Given the description of an element on the screen output the (x, y) to click on. 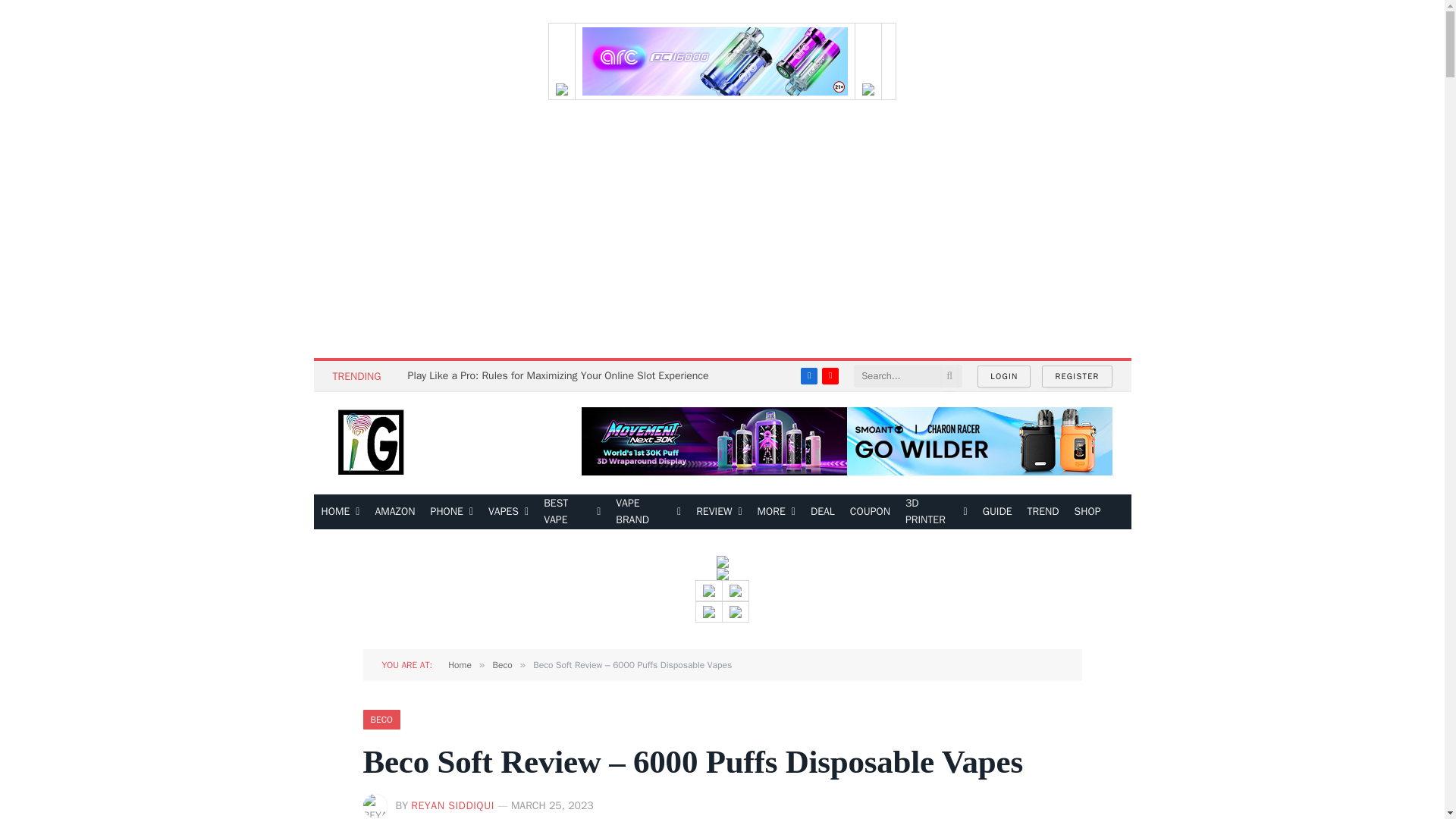
PHONE (451, 511)
REGISTER (1077, 376)
AMAZON (394, 511)
Posts by Reyan Siddiqui (452, 805)
LOGIN (1003, 376)
HOME (341, 511)
YouTube (830, 375)
Facebook (808, 375)
